Given the description of an element on the screen output the (x, y) to click on. 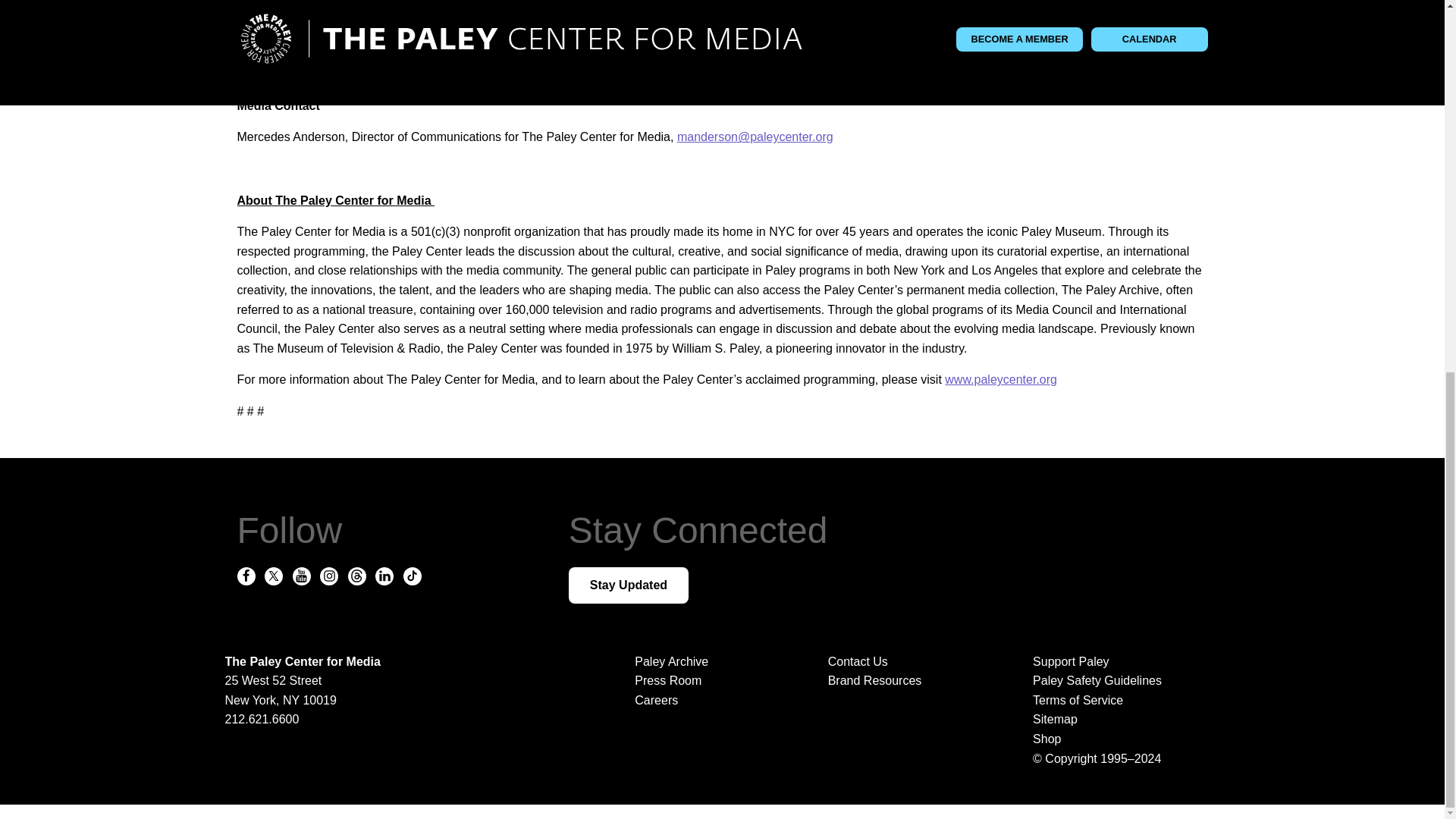
Brand Resources (874, 680)
Stay Updated (628, 585)
Paley Archive (670, 661)
Support Paley (1119, 661)
Terms of Service (1119, 700)
Contact Us (858, 661)
Careers (656, 699)
Shop (1119, 739)
Press Room (667, 680)
Sitemap (1119, 719)
